Given the description of an element on the screen output the (x, y) to click on. 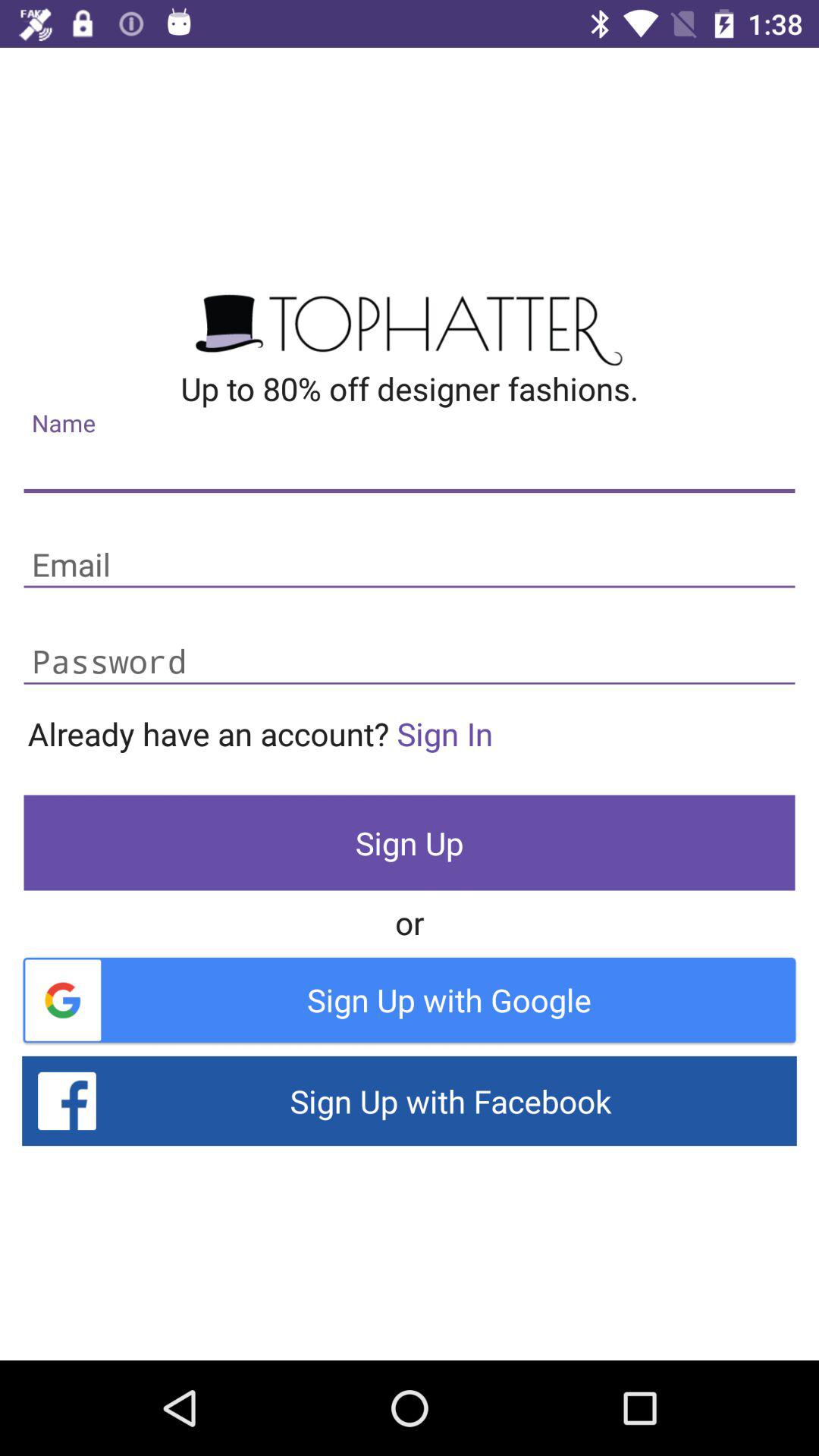
password type line (409, 662)
